Given the description of an element on the screen output the (x, y) to click on. 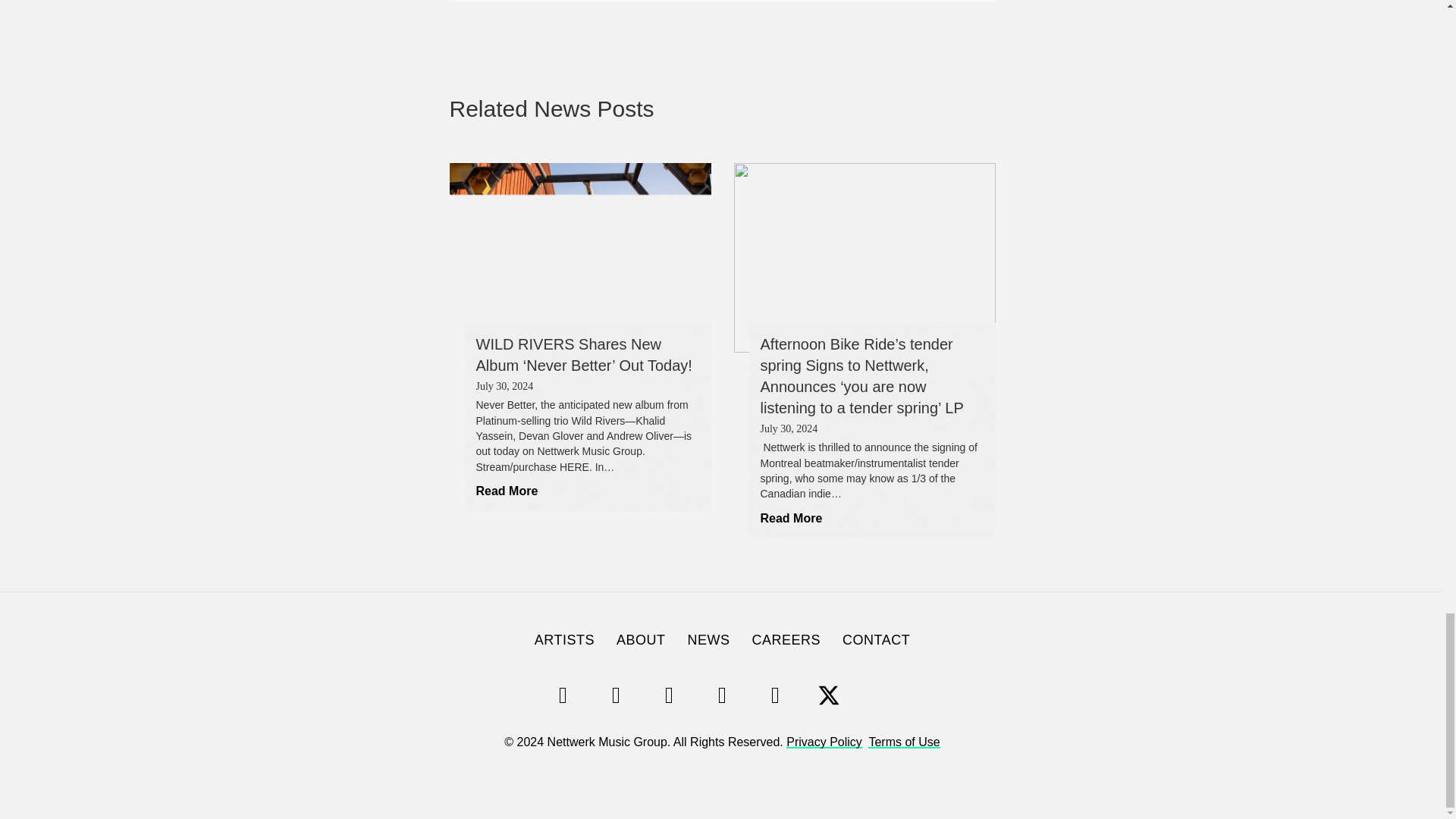
Apple Music (881, 695)
YouTube (721, 695)
CAREERS (786, 639)
Instagram (615, 695)
ARTISTS (564, 639)
TikTok (668, 695)
NEWS (708, 639)
CONTACT (875, 639)
Privacy Policy (823, 741)
Facebook (774, 695)
ABOUT (641, 639)
Spotify (562, 695)
Terms of Use (903, 741)
